Given the description of an element on the screen output the (x, y) to click on. 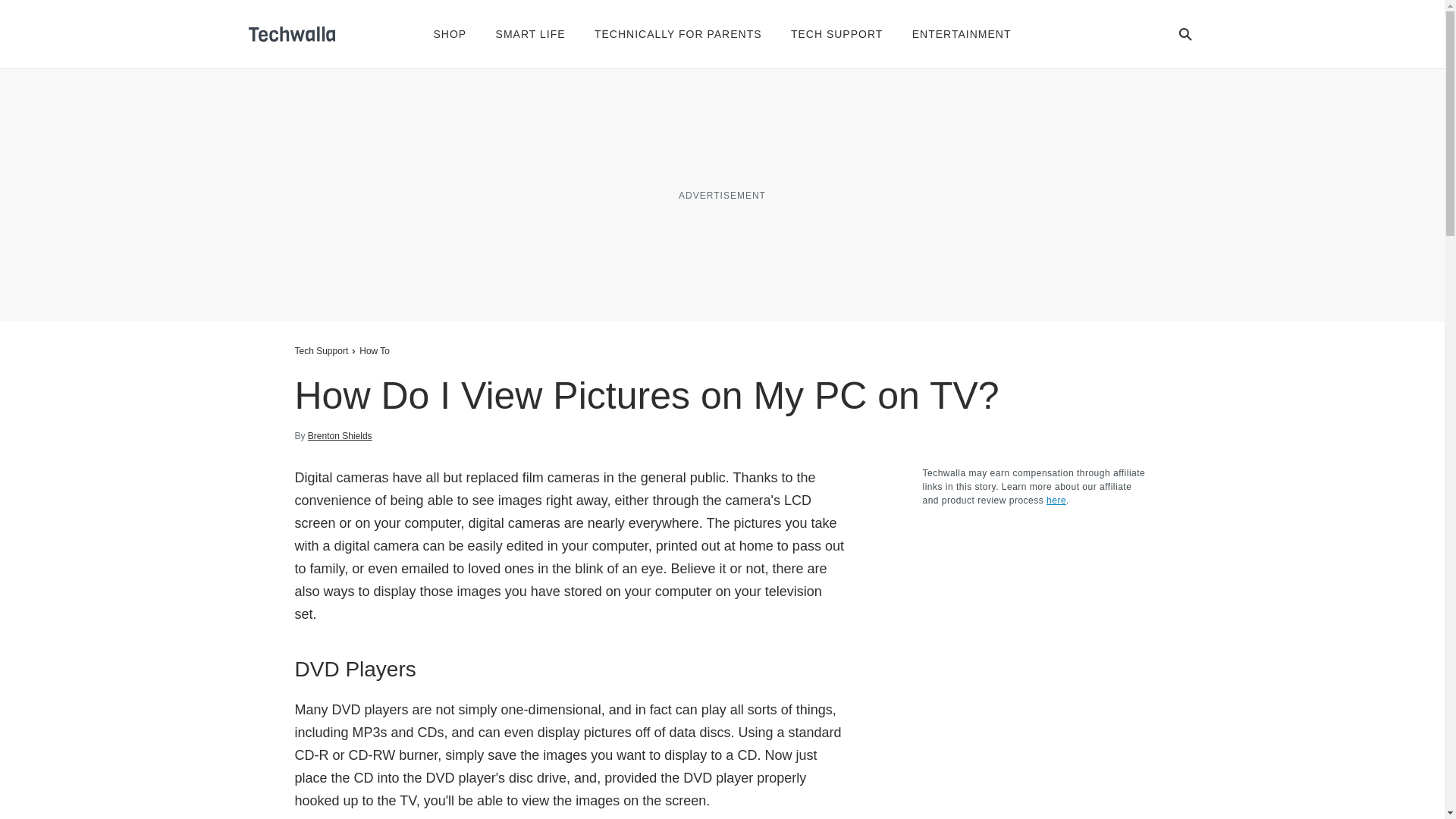
Learn more about our affiliate and product review process (1055, 500)
How To (374, 350)
Tech Support (320, 350)
here (1055, 500)
Brenton Shields (339, 435)
